Given the description of an element on the screen output the (x, y) to click on. 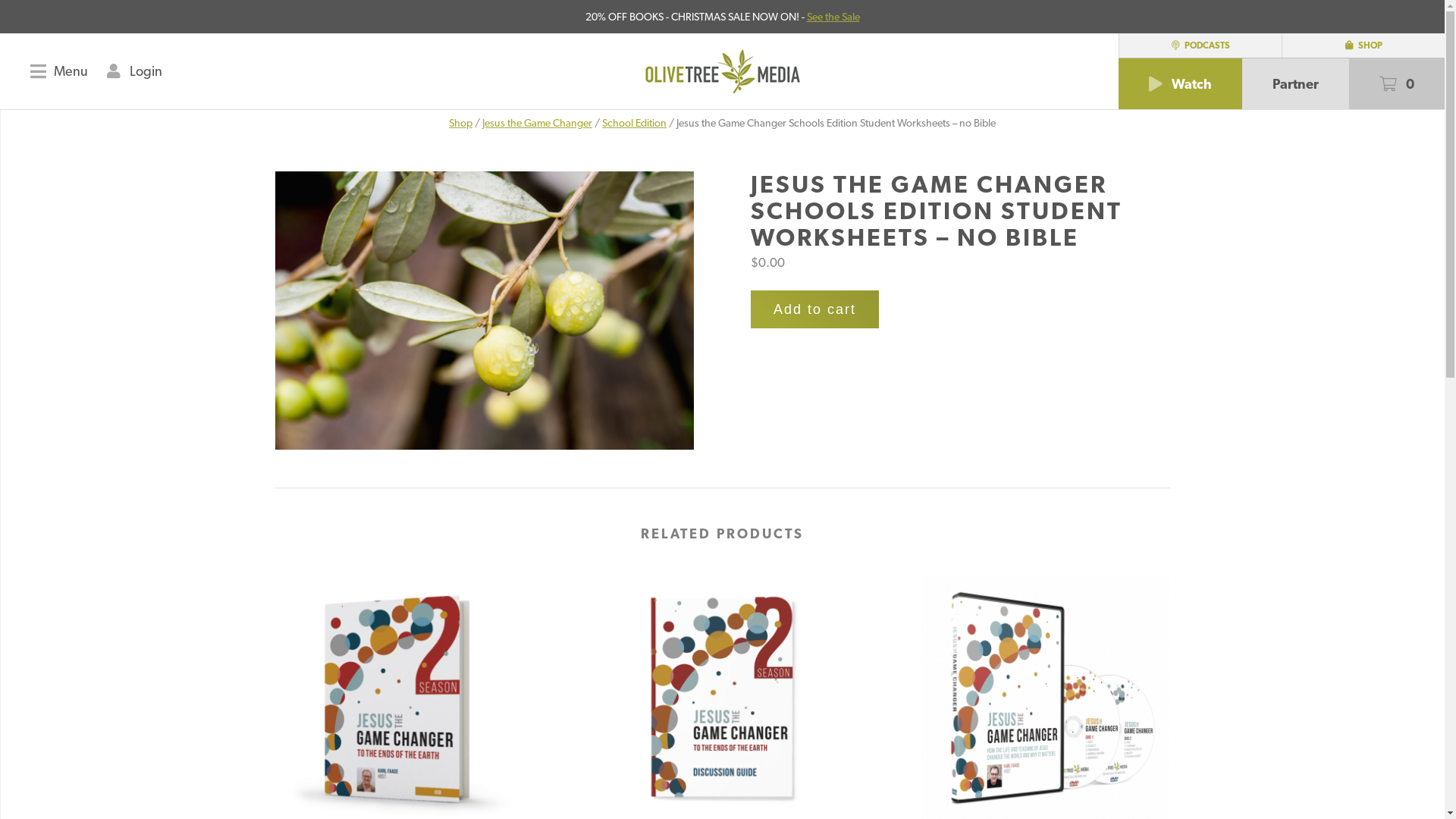
  PODCASTS Element type: text (1199, 45)
Jesus the Game Changer Element type: text (537, 122)
See the Sale Element type: text (832, 16)
  SHOP Element type: text (1362, 45)
Watch Element type: text (1180, 83)
banner Element type: hover (483, 310)
0 Element type: text (1396, 83)
Add to cart Element type: text (814, 309)
Login Element type: text (134, 71)
Shop Element type: text (460, 122)
Partner Element type: text (1295, 83)
School Edition Element type: text (634, 122)
